Given the description of an element on the screen output the (x, y) to click on. 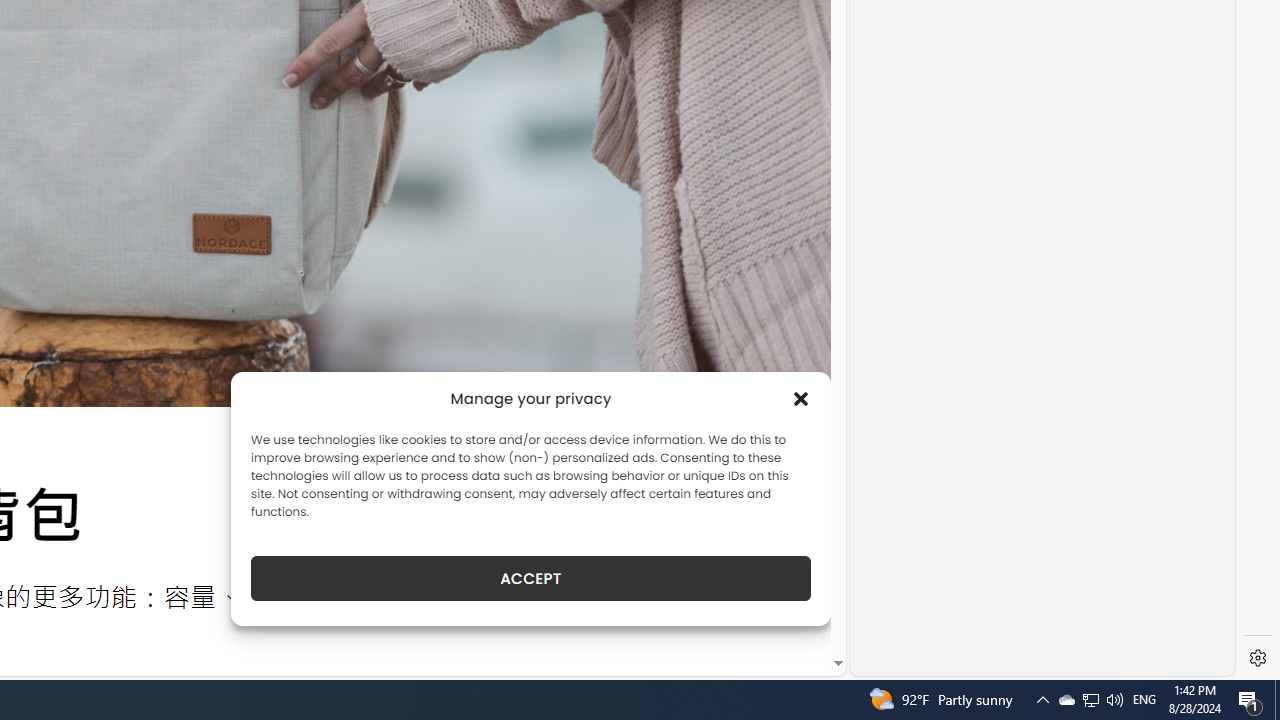
Class: cmplz-close (801, 398)
Settings (1258, 658)
ACCEPT (530, 578)
